Given the description of an element on the screen output the (x, y) to click on. 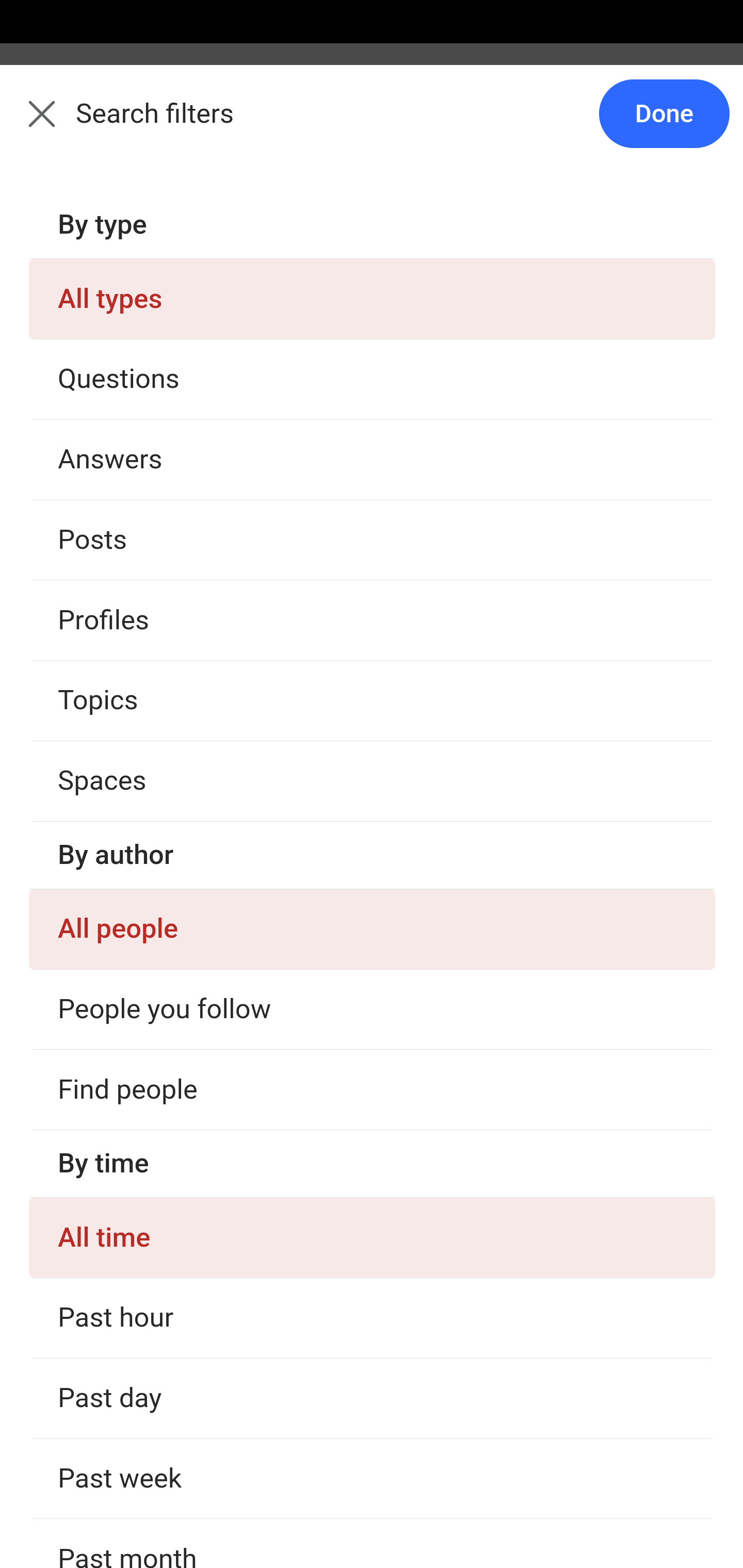
Back Search (371, 125)
Back (30, 125)
Answer (125, 387)
What industries will virtual reality (VR) disrupt? (372, 1309)
Answer (125, 1415)
